Given the description of an element on the screen output the (x, y) to click on. 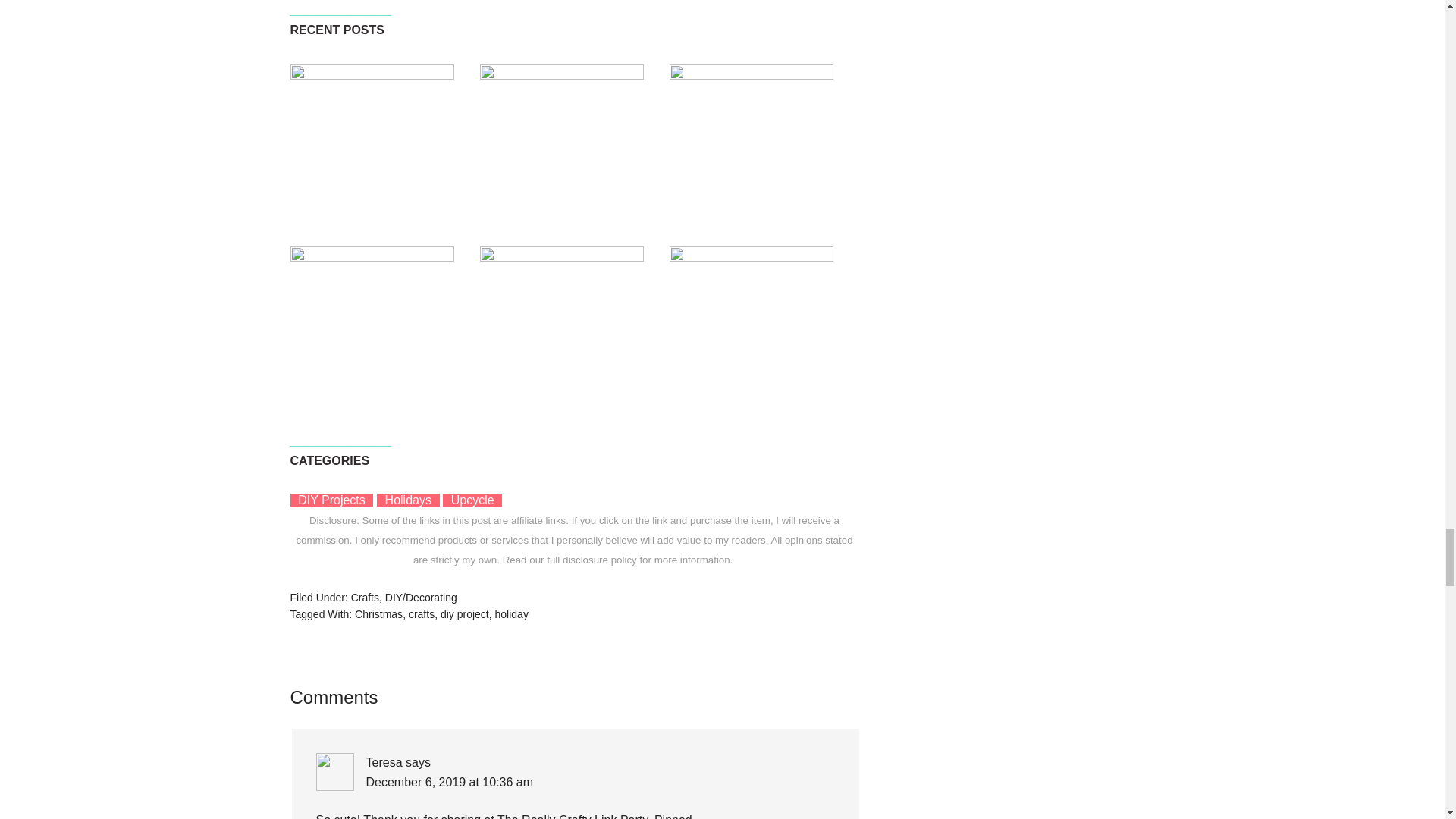
disclosure policy (599, 559)
Christmas (379, 613)
DIY Projects (331, 499)
Upcycle (473, 499)
Holidays (407, 499)
crafts (421, 613)
Crafts (364, 597)
diy project (465, 613)
